Given the description of an element on the screen output the (x, y) to click on. 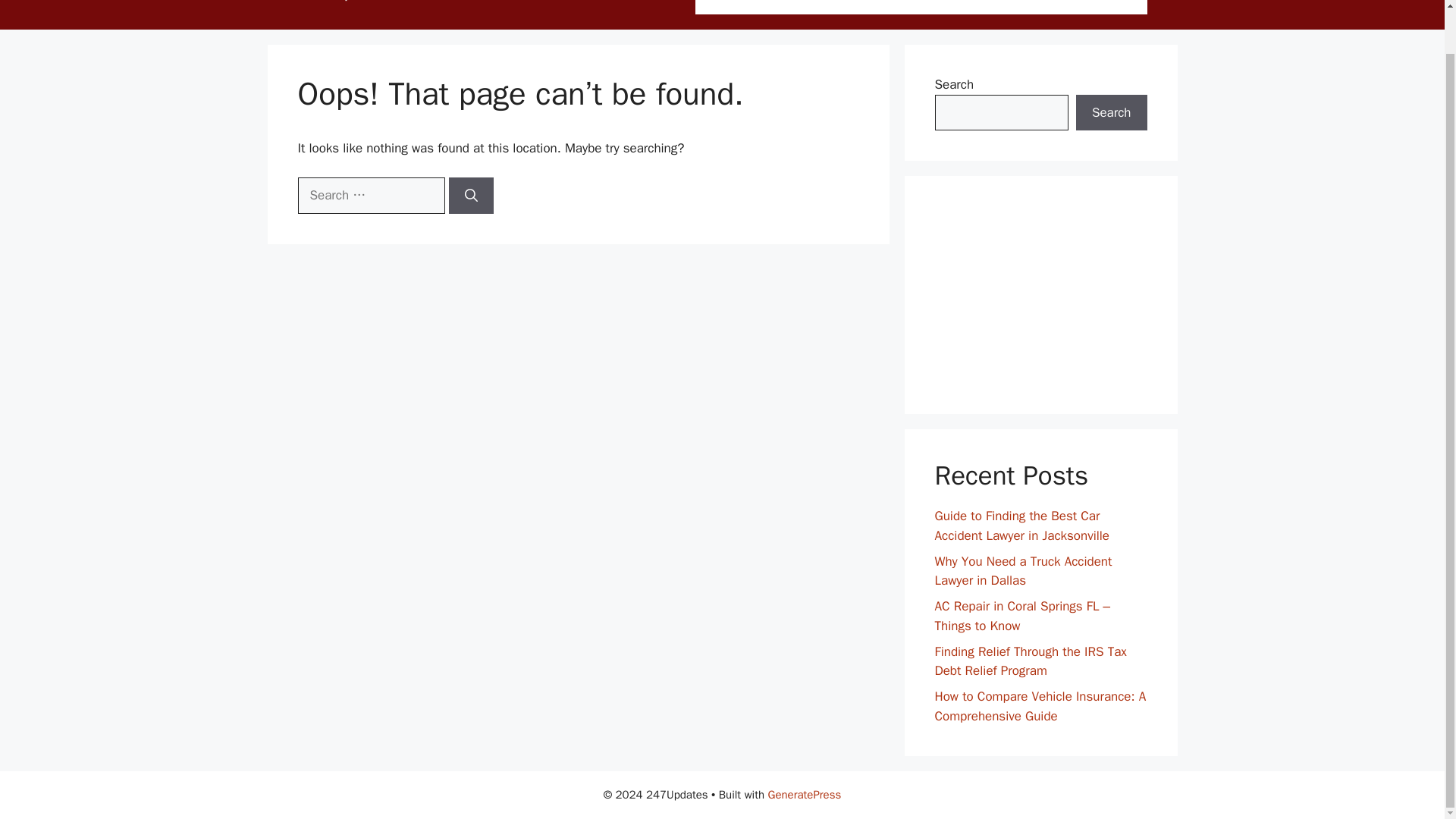
How to Compare Vehicle Insurance: A Comprehensive Guide (1039, 705)
Contact Us (968, 7)
GeneratePress (804, 794)
Advertisement (1040, 295)
Why You Need a Truck Accident Lawyer in Dallas (1023, 570)
Legal (1118, 7)
Search for: (370, 195)
Finding Relief Through the IRS Tax Debt Relief Program (1029, 661)
About Us (888, 7)
Search (1111, 113)
